Given the description of an element on the screen output the (x, y) to click on. 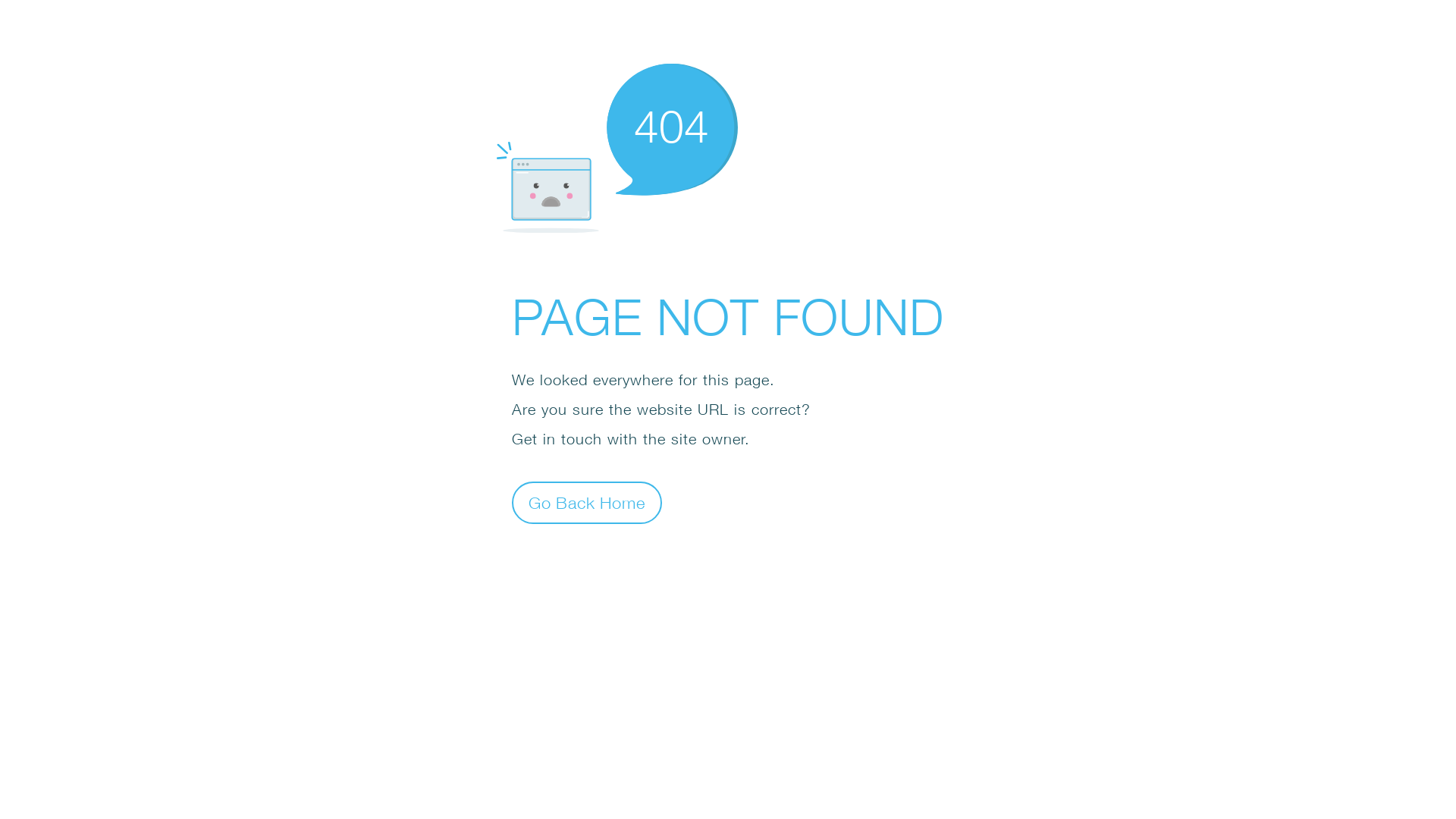
Go Back Home Element type: text (586, 502)
